Given the description of an element on the screen output the (x, y) to click on. 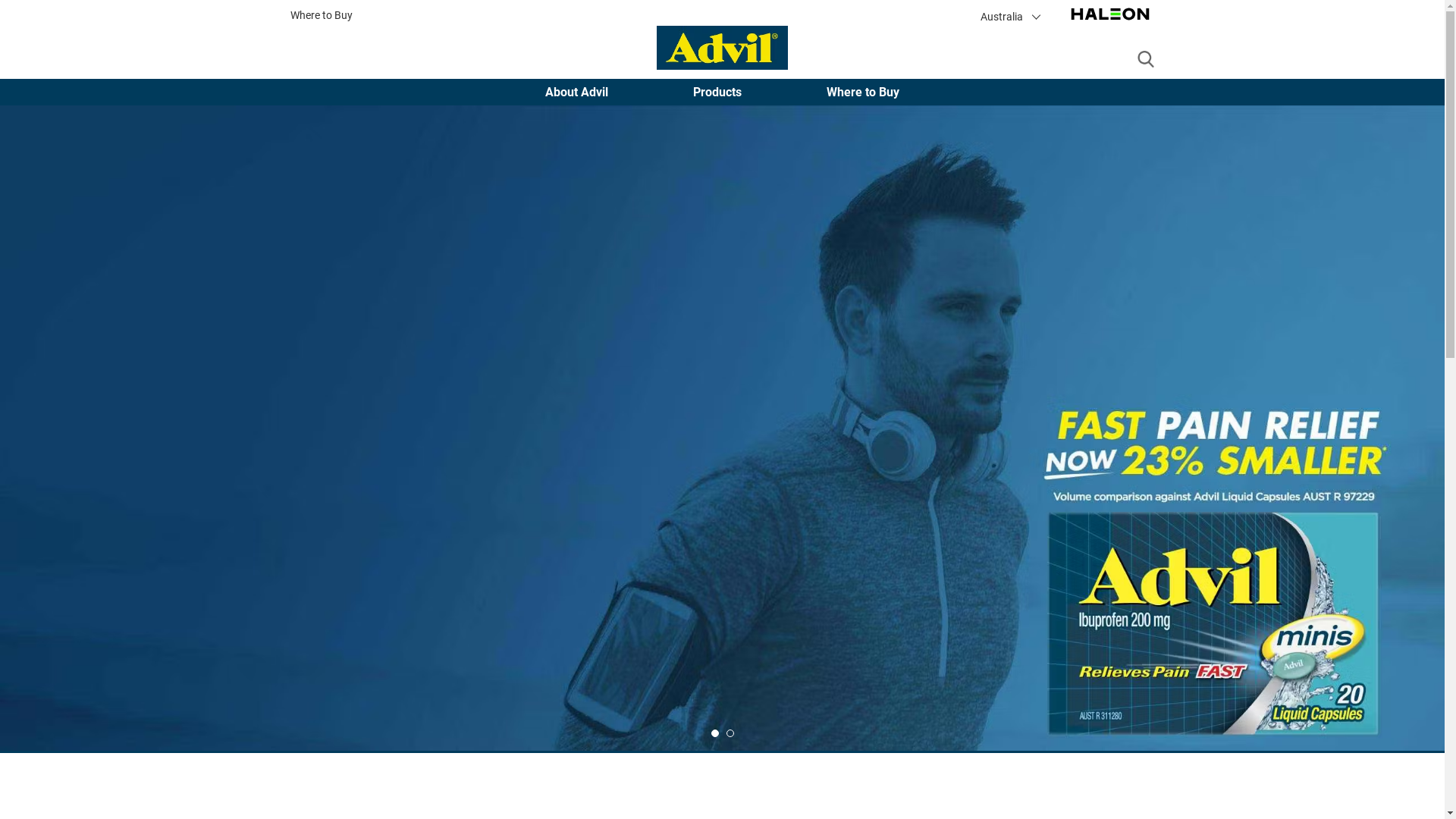
2 Element type: text (730, 733)
Submit
Search Button Element type: text (1144, 59)
Advil Logo Element type: hover (721, 47)
Where to Buy Element type: text (862, 91)
Haleon Element type: hover (1109, 22)
Learn more Element type: text (240, 359)
1 Element type: text (714, 733)
Products Element type: text (717, 91)
Where to Buy Element type: text (320, 15)
About Advil Element type: text (576, 91)
